Given the description of an element on the screen output the (x, y) to click on. 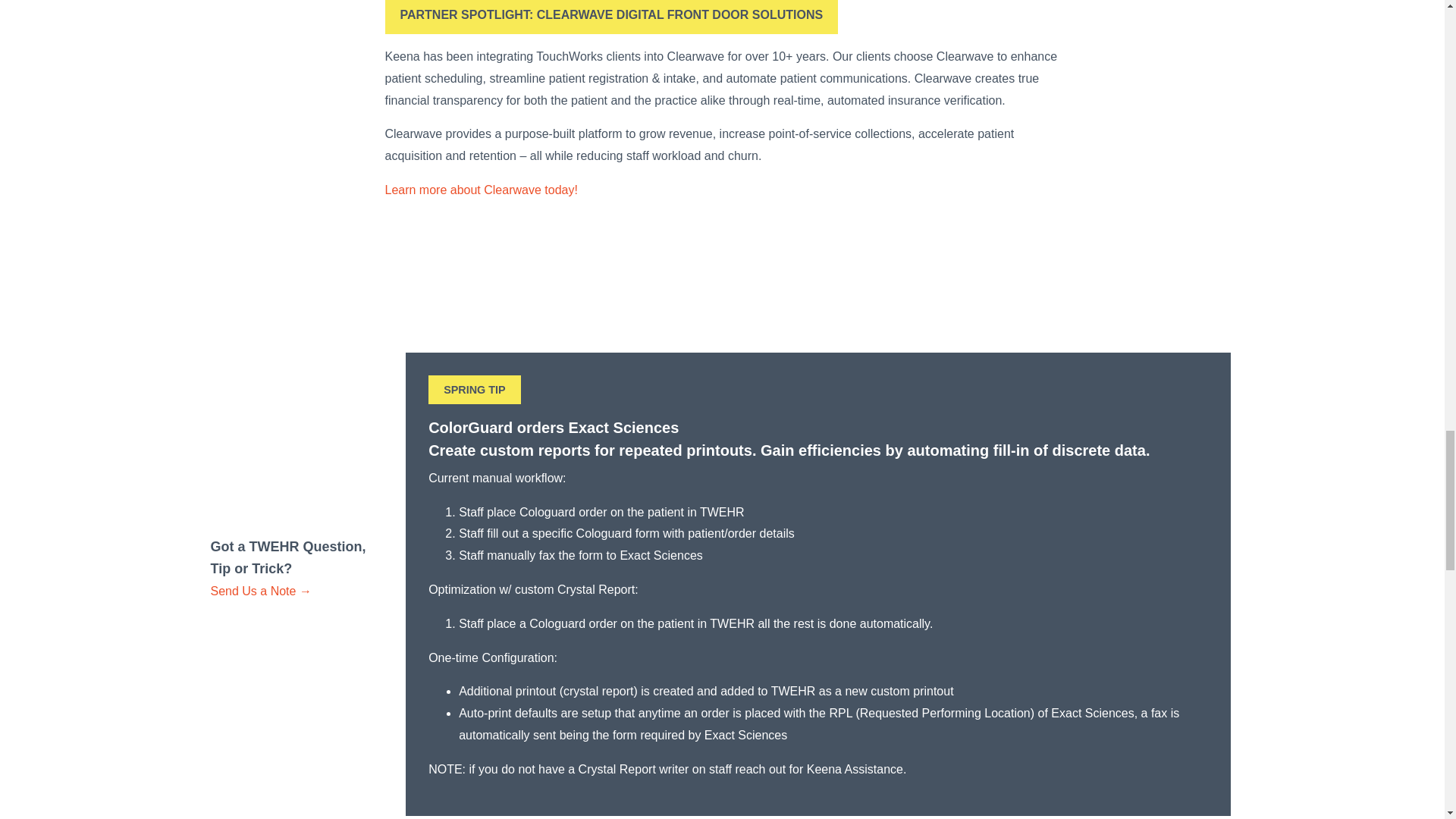
Learn more about Clearwave today! (481, 189)
